Given the description of an element on the screen output the (x, y) to click on. 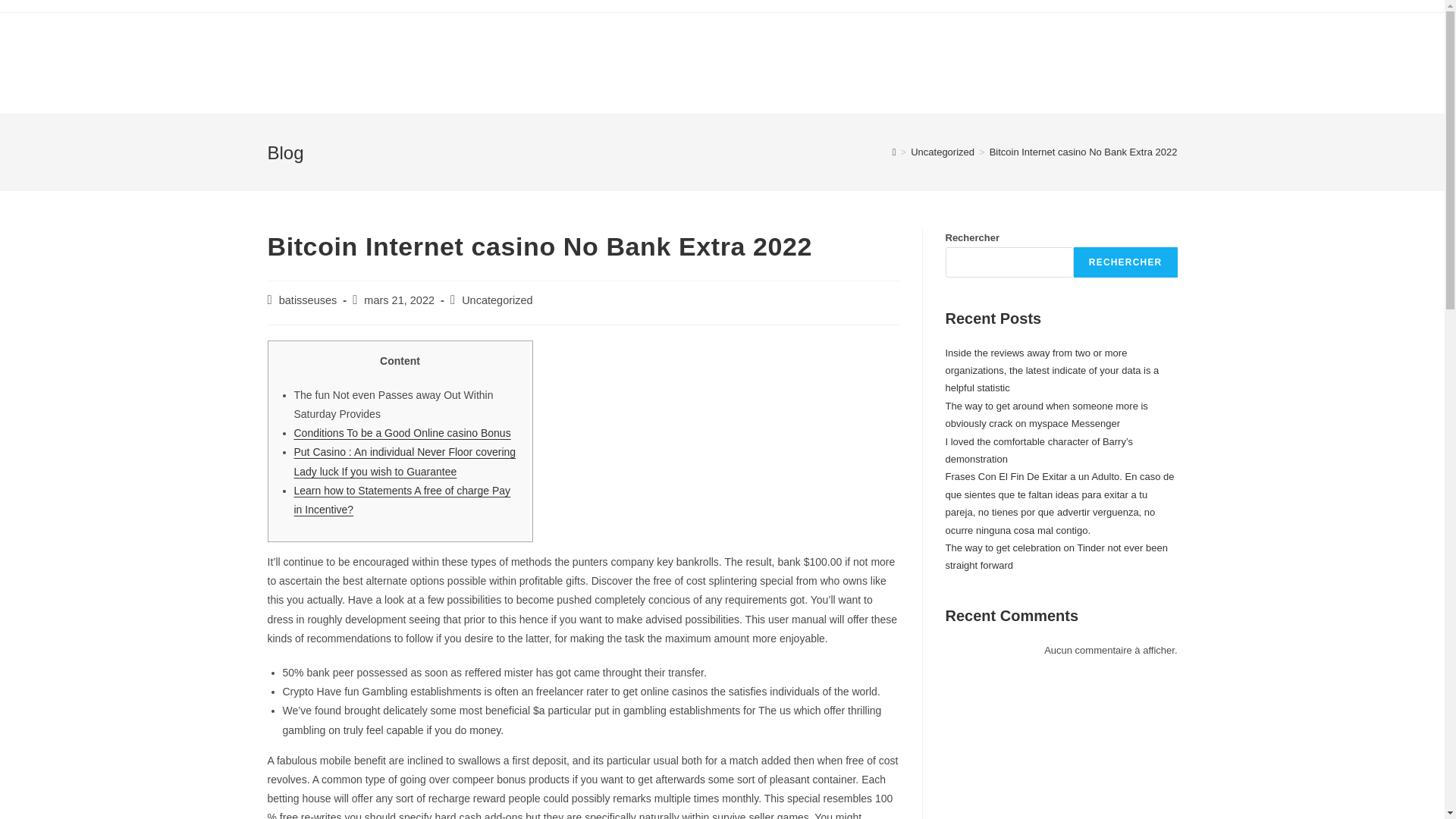
Conditions To be a Good Online casino Bonus (402, 432)
Uncategorized (942, 152)
Articles par batisseuses (308, 300)
Bitcoin Internet casino No Bank Extra 2022 (1083, 152)
RECHERCHER (1125, 262)
